Given the description of an element on the screen output the (x, y) to click on. 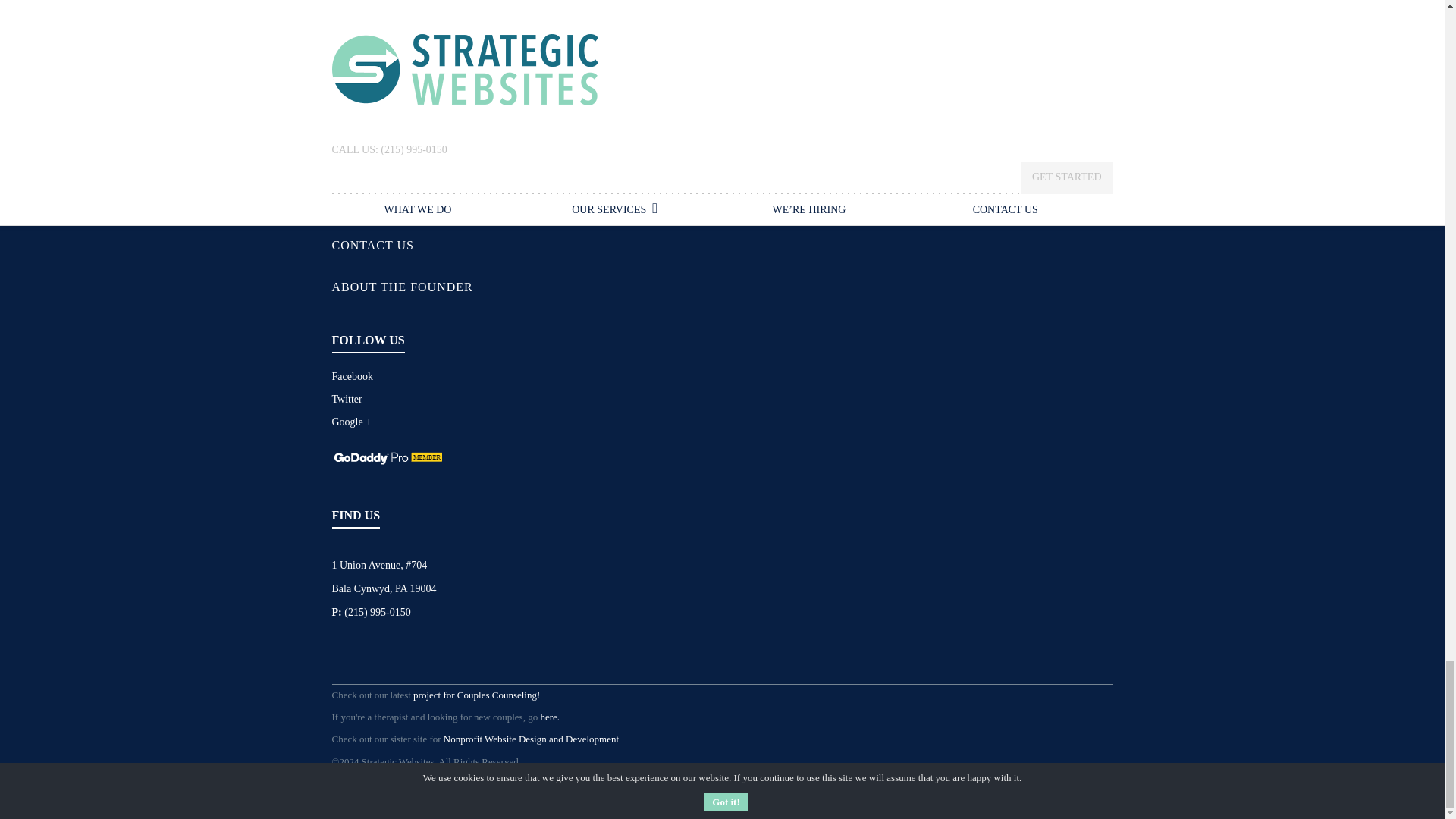
FAQ (344, 161)
Nonprofit Website Design and Development (531, 738)
CONTACT US (372, 245)
ABOUT THE FOUNDER (402, 286)
Twitter (346, 398)
Terms of Use (422, 785)
here. (549, 716)
project for Couples Counseling! (476, 695)
Facebook (351, 376)
Privacy Policy (360, 785)
